Given the description of an element on the screen output the (x, y) to click on. 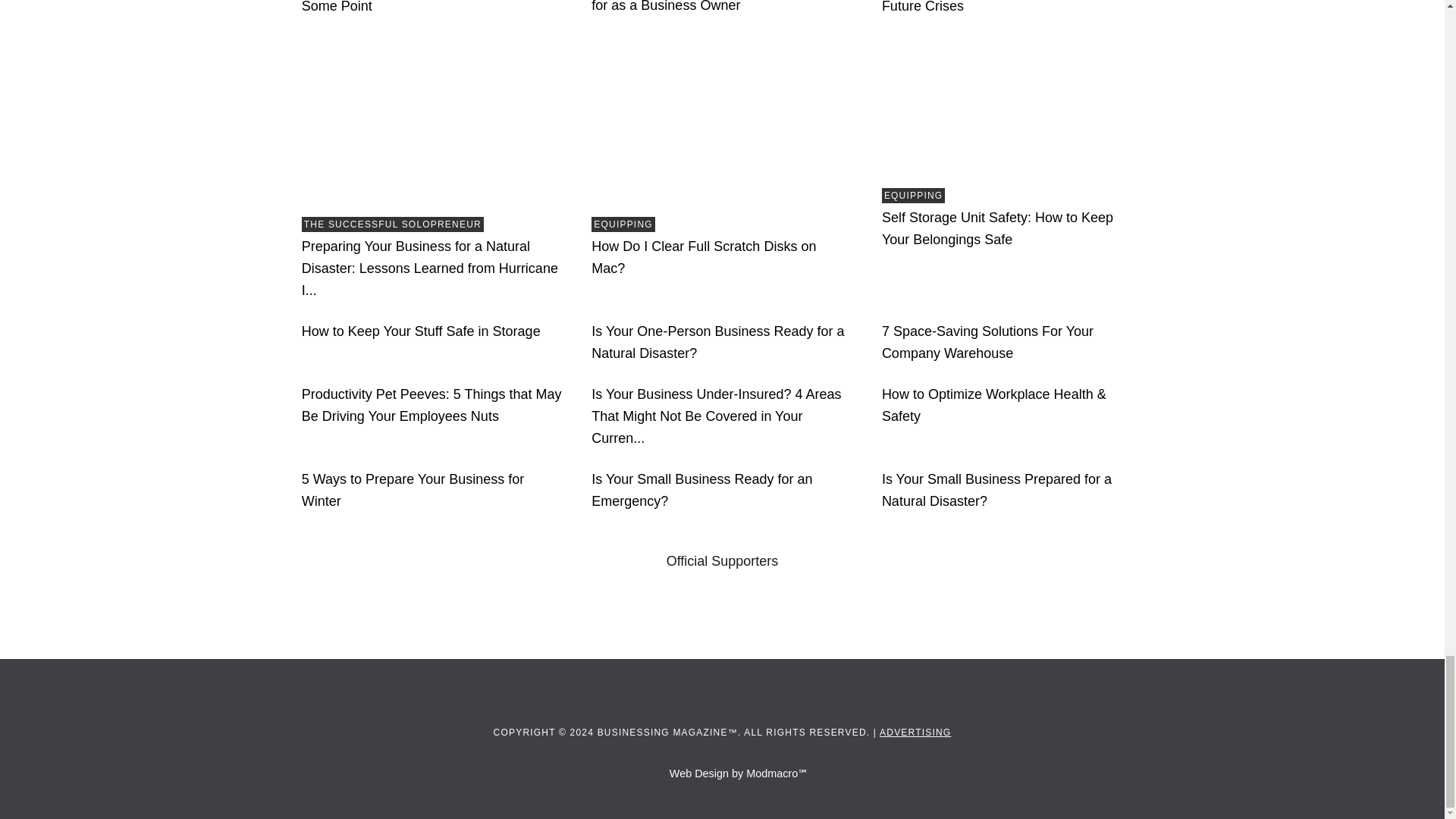
BM Windows San Diego (500, 613)
Quick Caption (672, 613)
Burg Network (845, 613)
How Do I Clear Full Scratch Disks on Mac? (721, 122)
Golden Care San Diego (579, 613)
Self Storage Unit Safety: How to Keep Your Belongings Safe (1012, 108)
AV Programming Associates, Inc. (420, 613)
Contemporary Communications Consulting (765, 613)
